Given the description of an element on the screen output the (x, y) to click on. 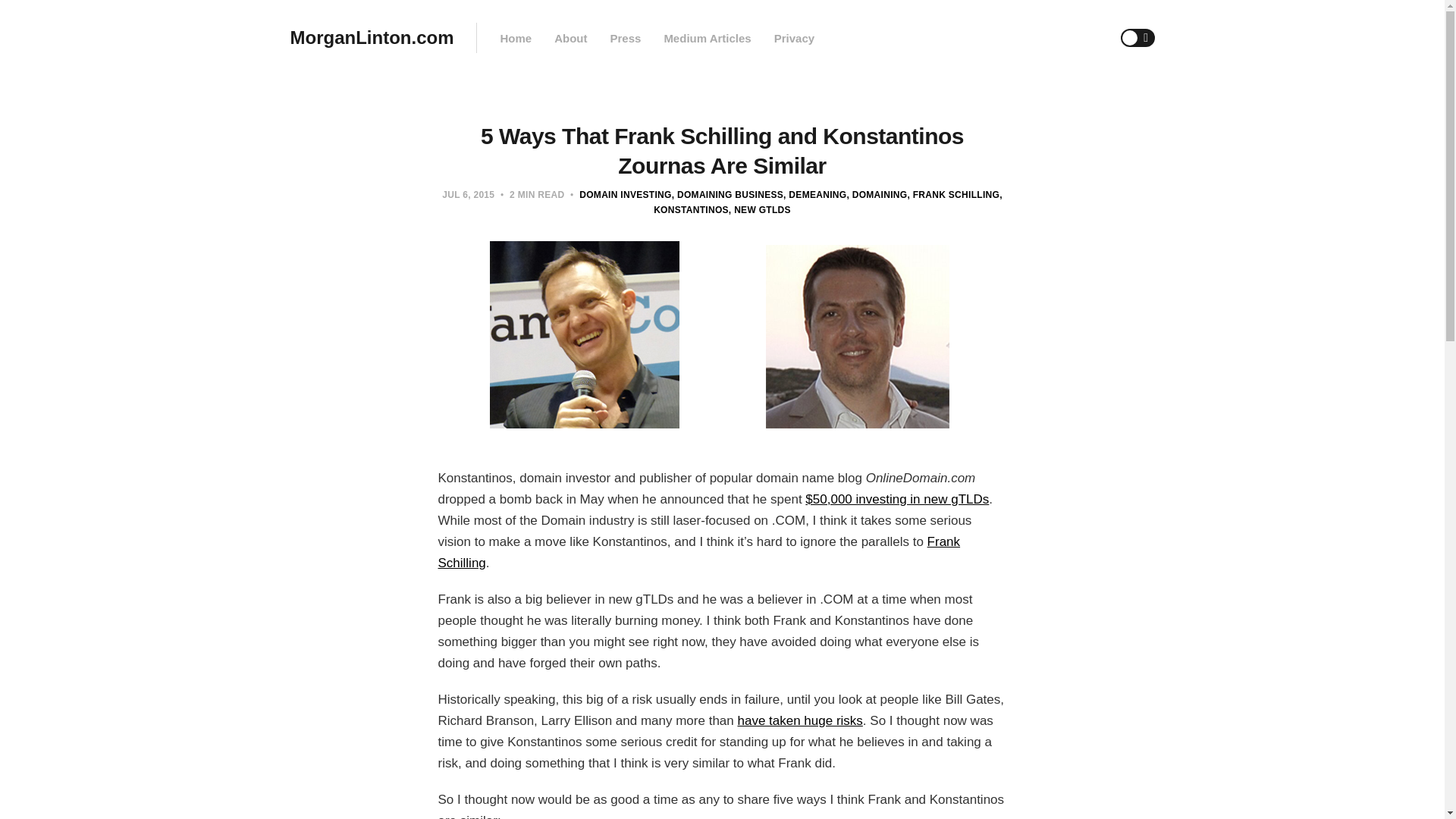
KONSTANTINOS (828, 202)
NEW GTLDS (759, 209)
Medium Articles (707, 38)
Domain Investing (625, 194)
Home (515, 38)
DOMAIN INVESTING (625, 194)
DOMAINING BUSINESS (727, 194)
demeaning (814, 194)
new gTLDs (759, 209)
Press (625, 38)
Frank Schilling (699, 552)
DEMEANING (814, 194)
About (570, 38)
DOMAINING (876, 194)
Privacy (793, 38)
